Given the description of an element on the screen output the (x, y) to click on. 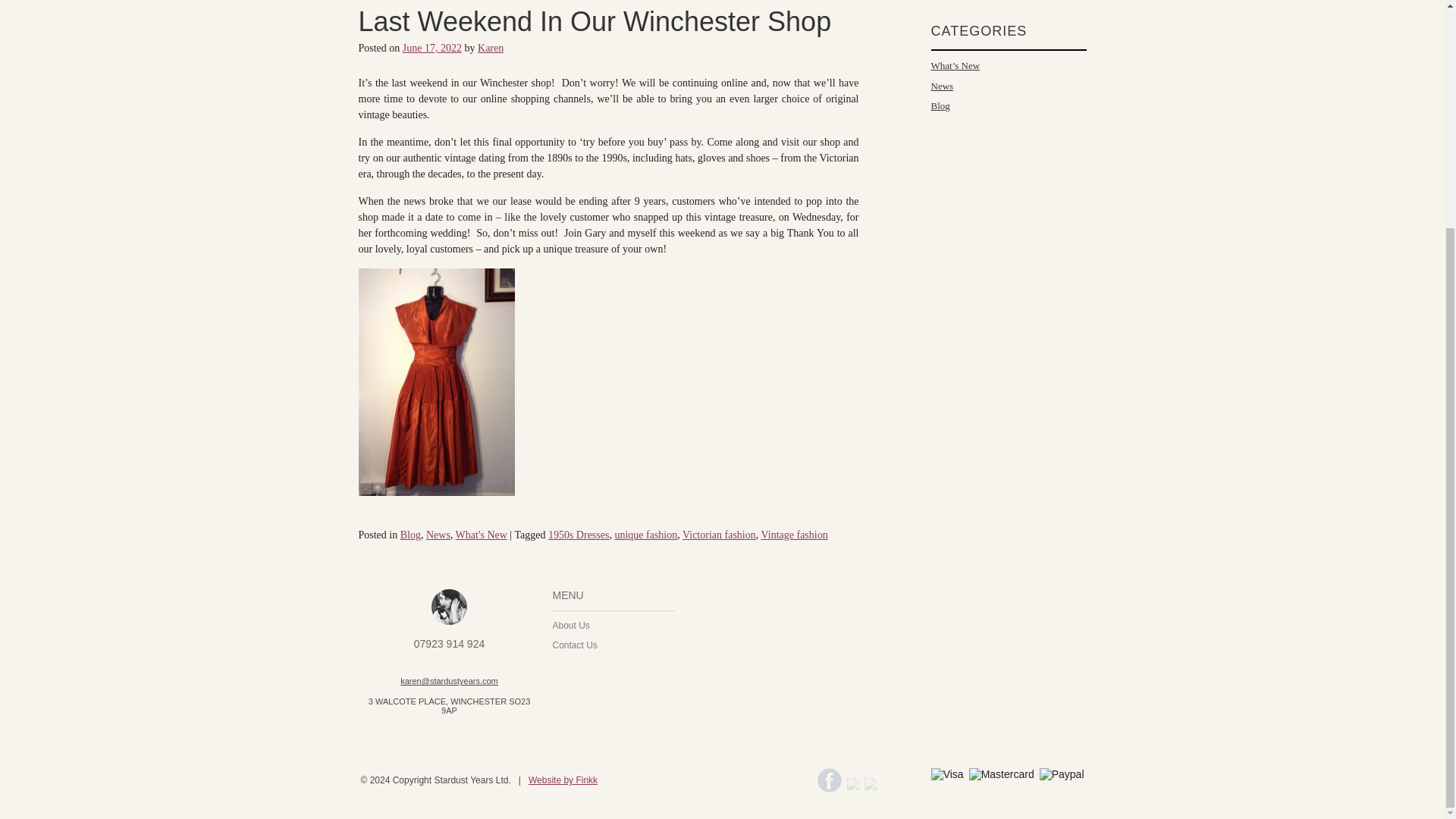
3:29 pm (432, 48)
View all posts by Karen (490, 48)
Permalink to Last Weekend In Our Winchester Shop (594, 20)
